Given the description of an element on the screen output the (x, y) to click on. 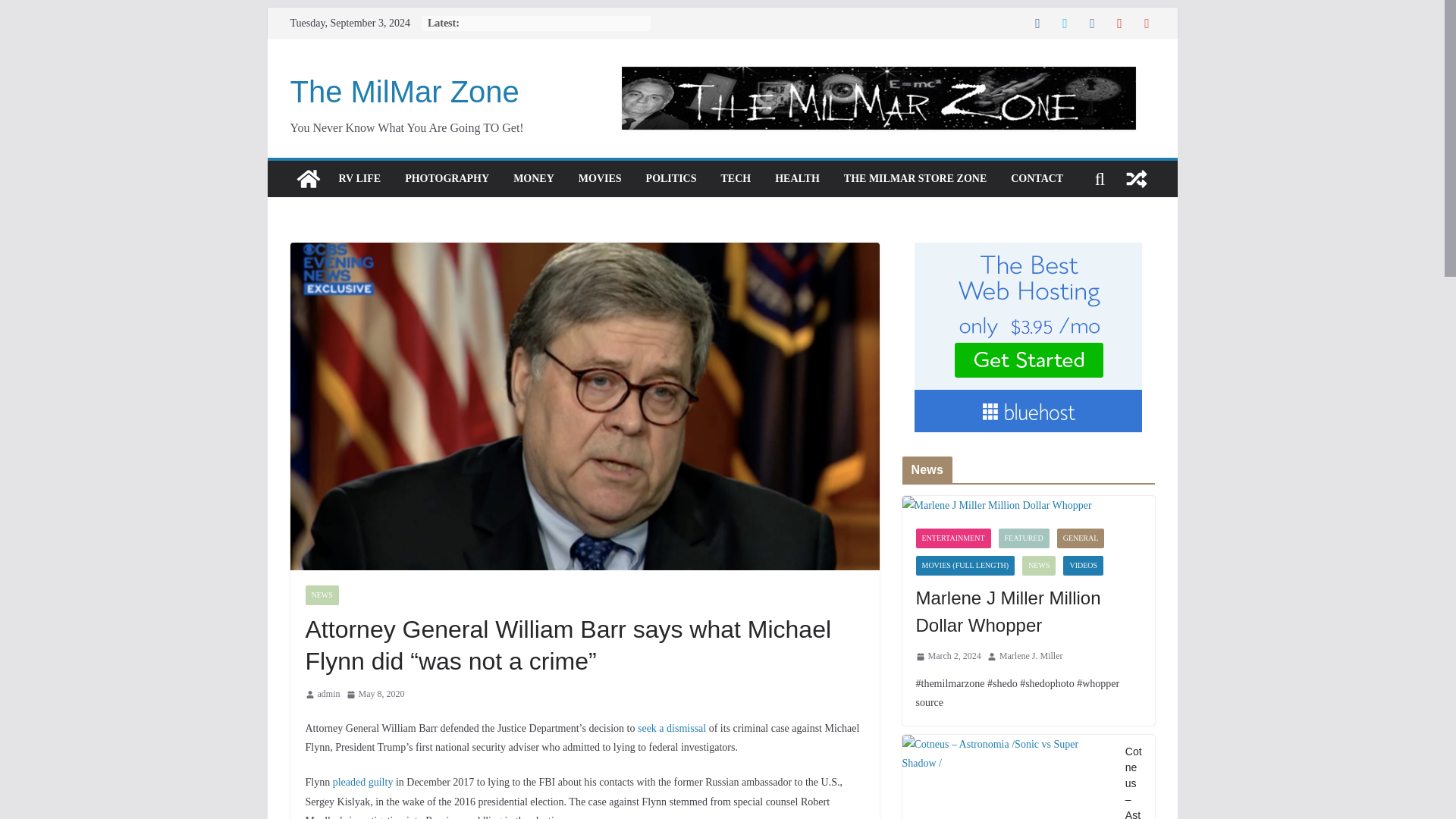
seek a dismissal (671, 727)
May 8, 2020 (375, 694)
NEWS (320, 595)
CONTACT (1036, 178)
HEALTH (796, 178)
TECH (735, 178)
RV LIFE (358, 178)
THE MILMAR STORE ZONE (915, 178)
View a random post (1136, 178)
PHOTOGRAPHY (446, 178)
